Given the description of an element on the screen output the (x, y) to click on. 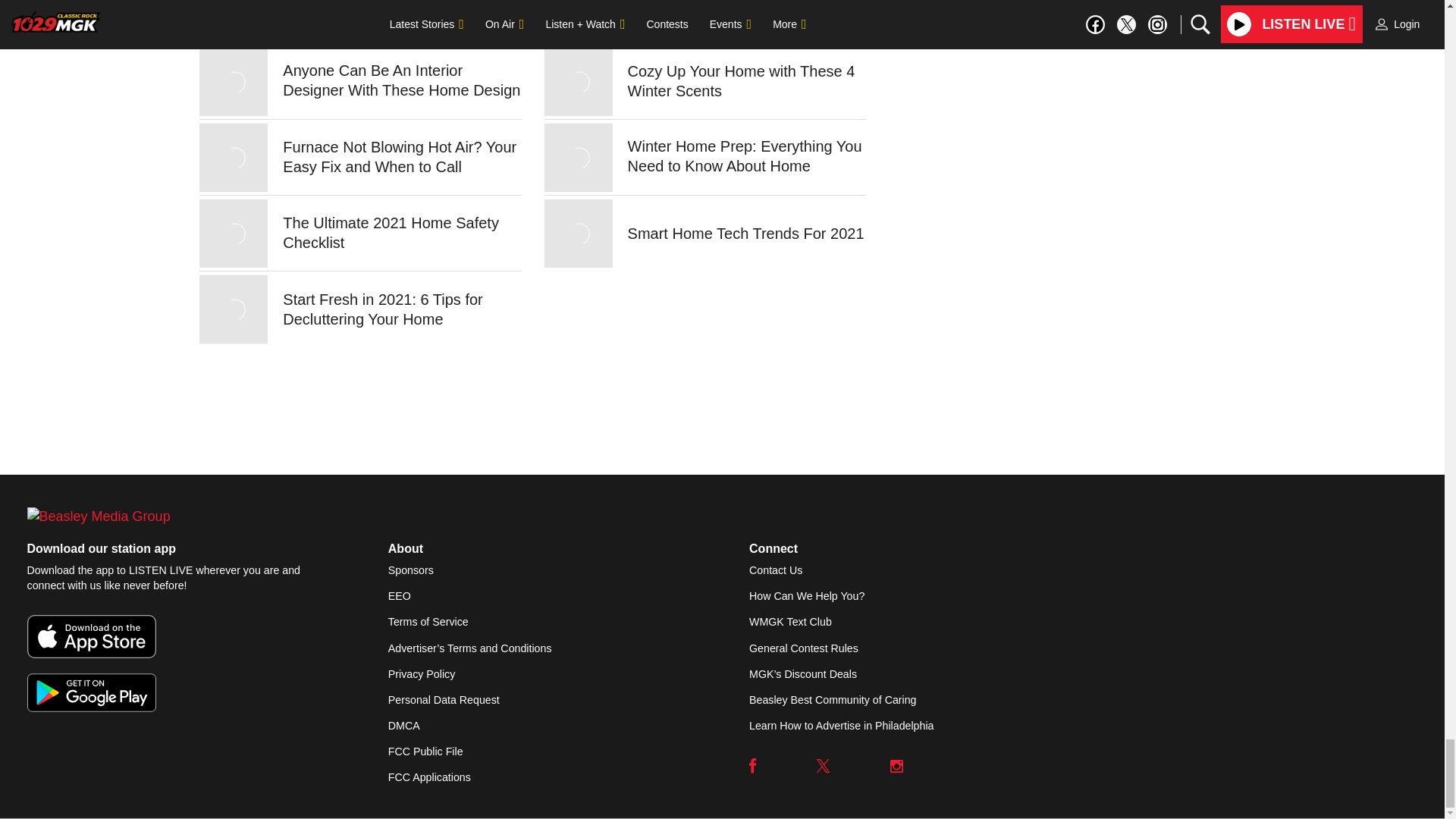
Twitter (823, 766)
Instagram (895, 766)
